Given the description of an element on the screen output the (x, y) to click on. 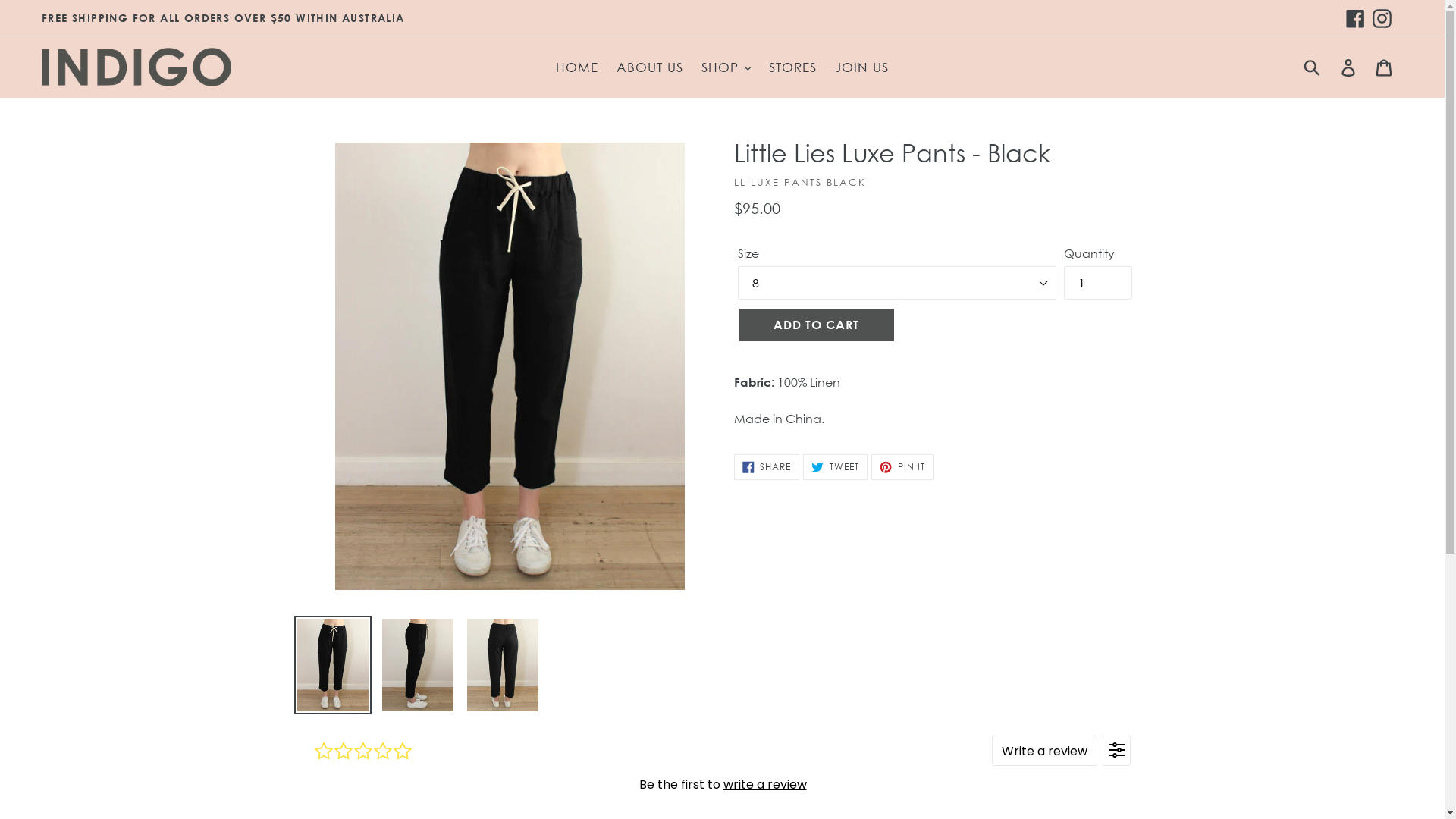
ABOUT US Element type: text (649, 67)
Facebook Element type: text (1355, 18)
Log in Element type: text (1349, 67)
JOIN US Element type: text (861, 67)
Submit Element type: text (1312, 67)
PIN IT
PIN ON PINTEREST Element type: text (902, 467)
TWEET
TWEET ON TWITTER Element type: text (835, 467)
Instagram Element type: text (1381, 18)
STORES Element type: text (792, 67)
SHARE
SHARE ON FACEBOOK Element type: text (767, 467)
Cart Element type: text (1384, 67)
ADD TO CART Element type: text (815, 324)
HOME Element type: text (576, 67)
